Given the description of an element on the screen output the (x, y) to click on. 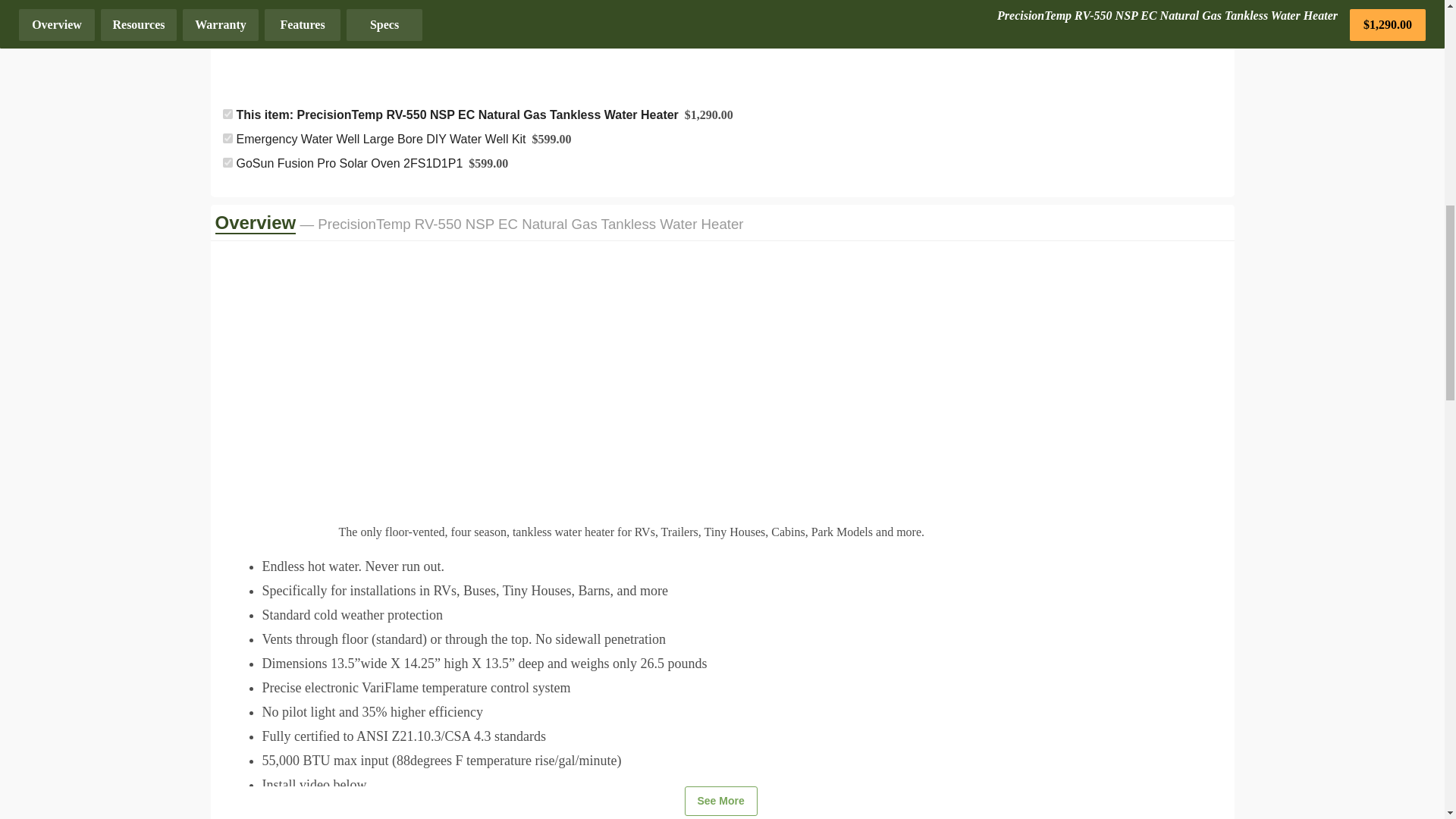
on (227, 162)
on (227, 113)
on (227, 138)
YouTube video player (432, 369)
